Given the description of an element on the screen output the (x, y) to click on. 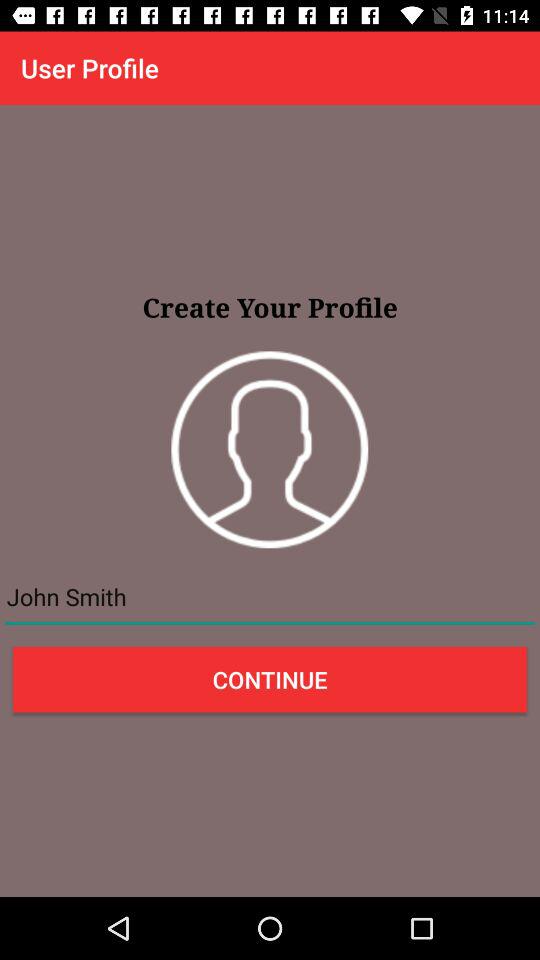
put the photo (269, 449)
